Given the description of an element on the screen output the (x, y) to click on. 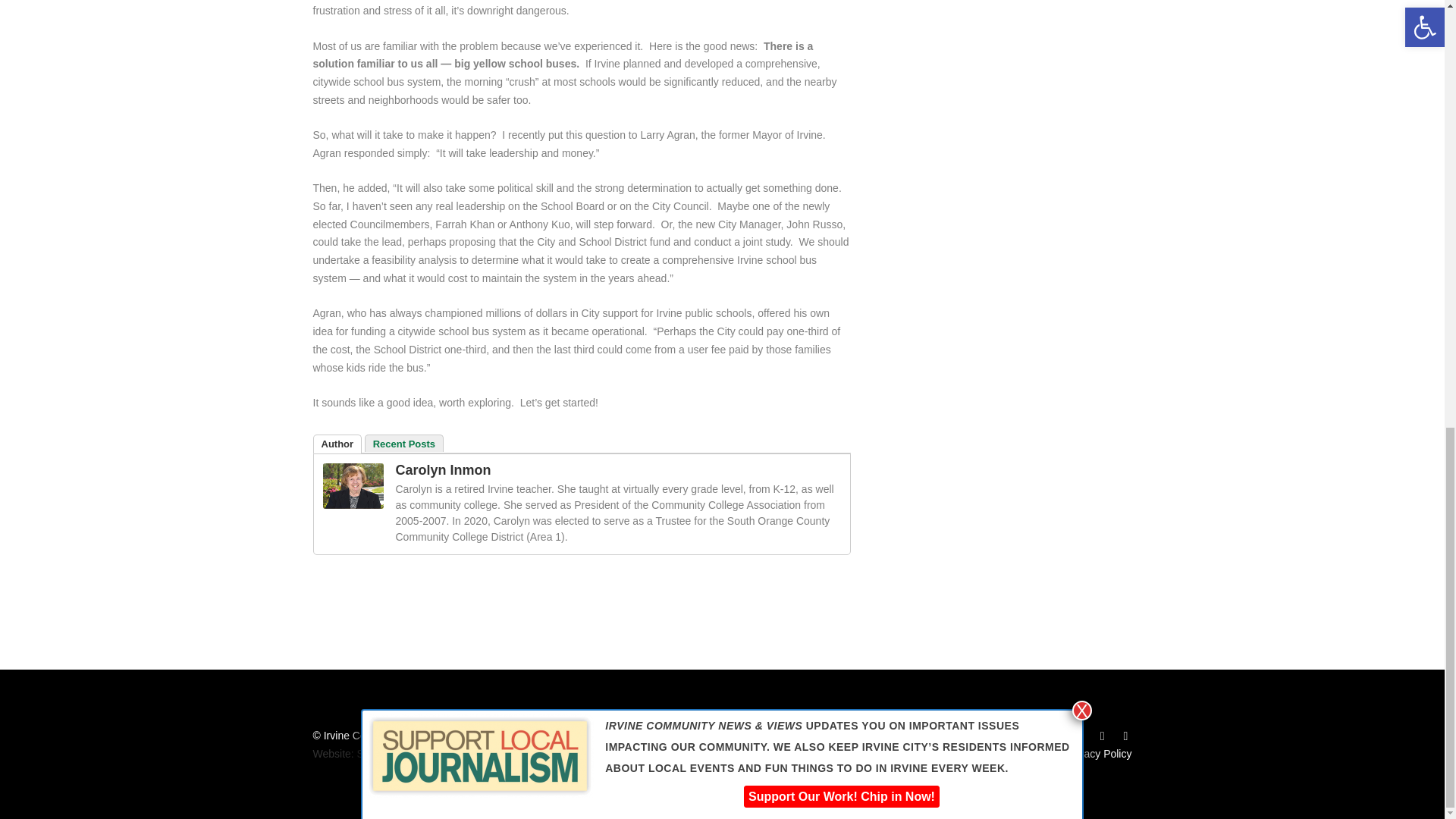
Website: Strategic Communication Consultants (423, 753)
Carolyn Inmon (444, 469)
Carolyn Inmon (353, 504)
Recent Posts (404, 443)
Author (337, 443)
